Given the description of an element on the screen output the (x, y) to click on. 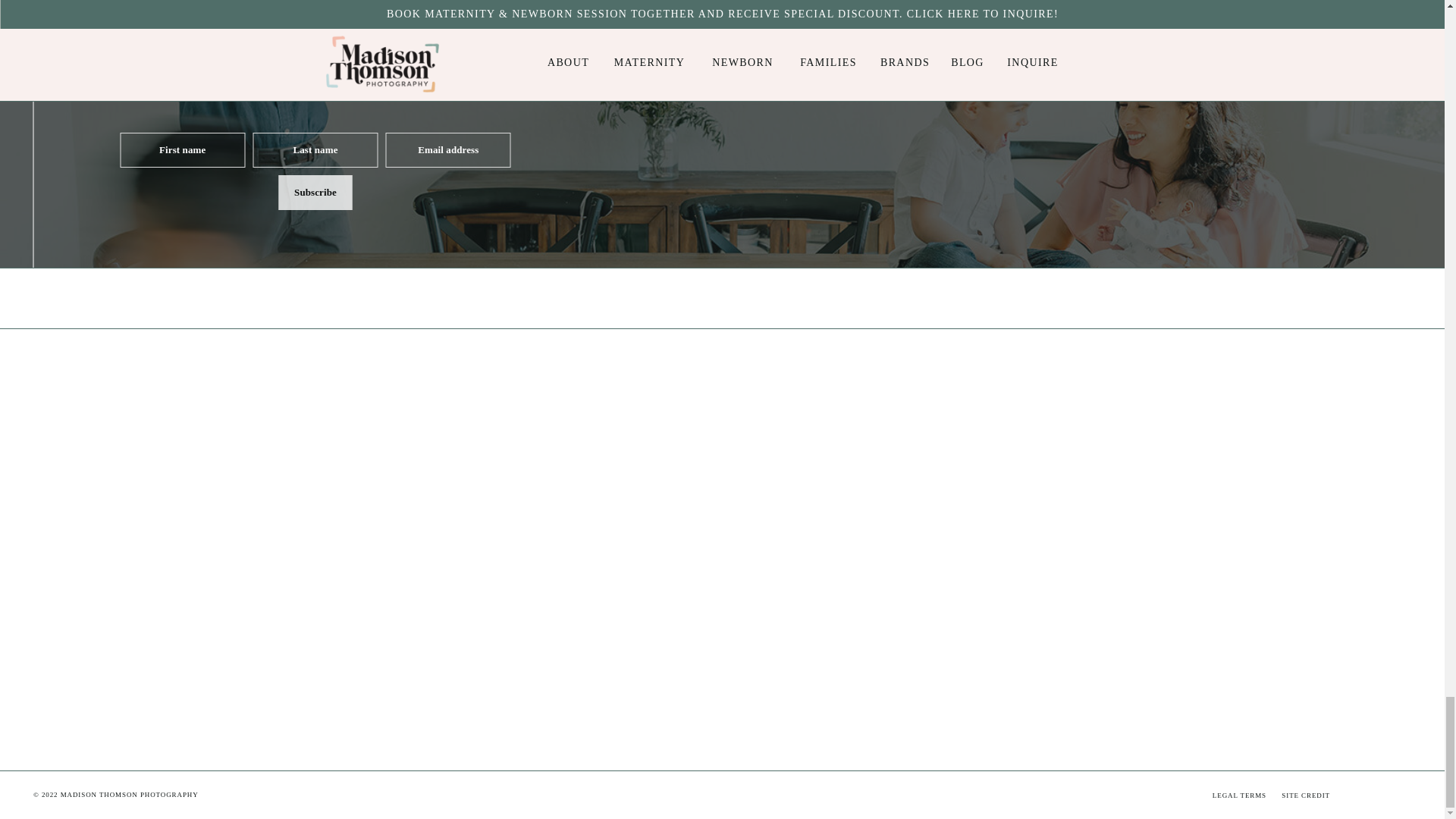
High-Tide-by-Northfolk---00002 (635, 648)
